Given the description of an element on the screen output the (x, y) to click on. 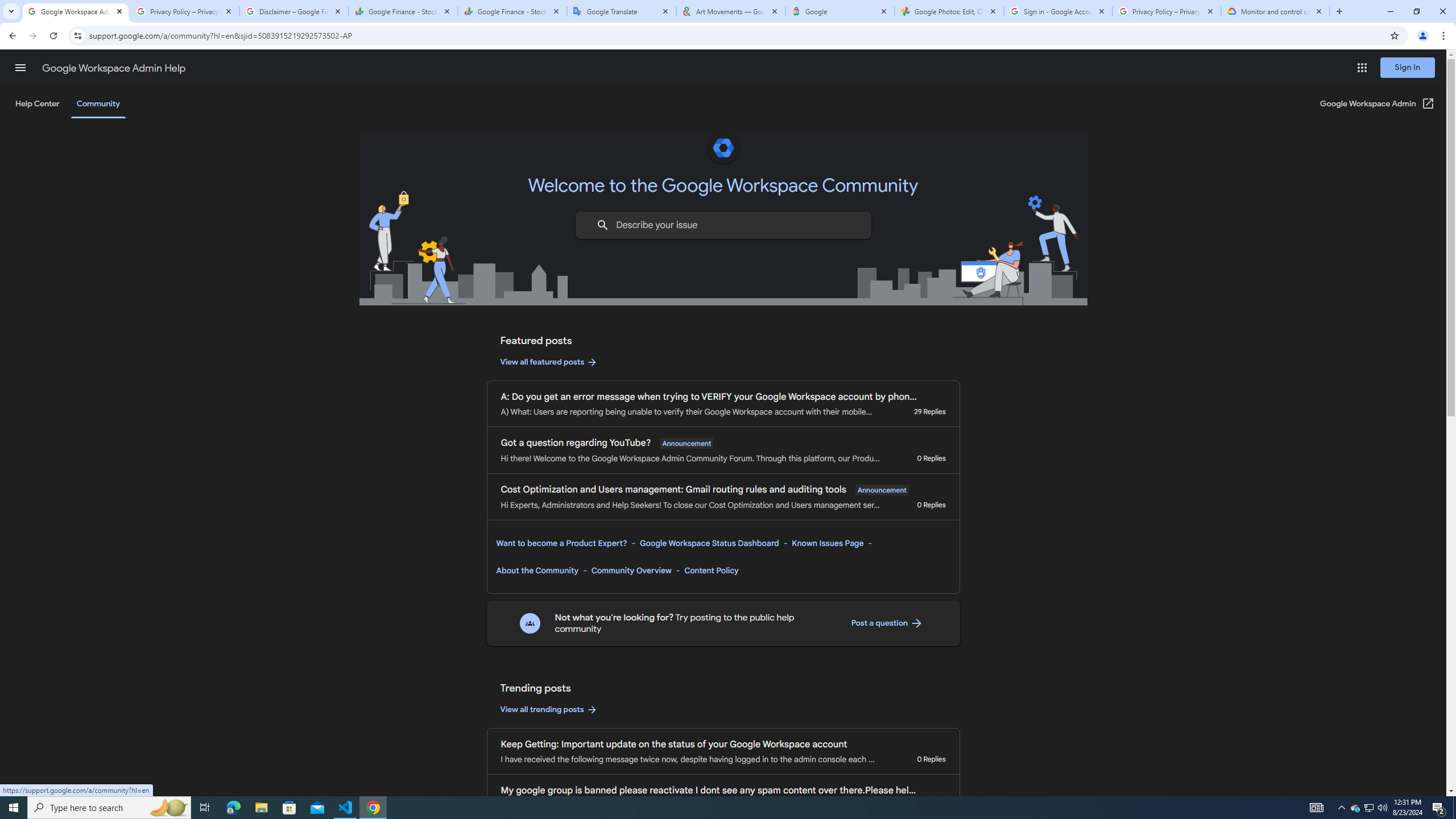
Community Overview (631, 570)
